Given the description of an element on the screen output the (x, y) to click on. 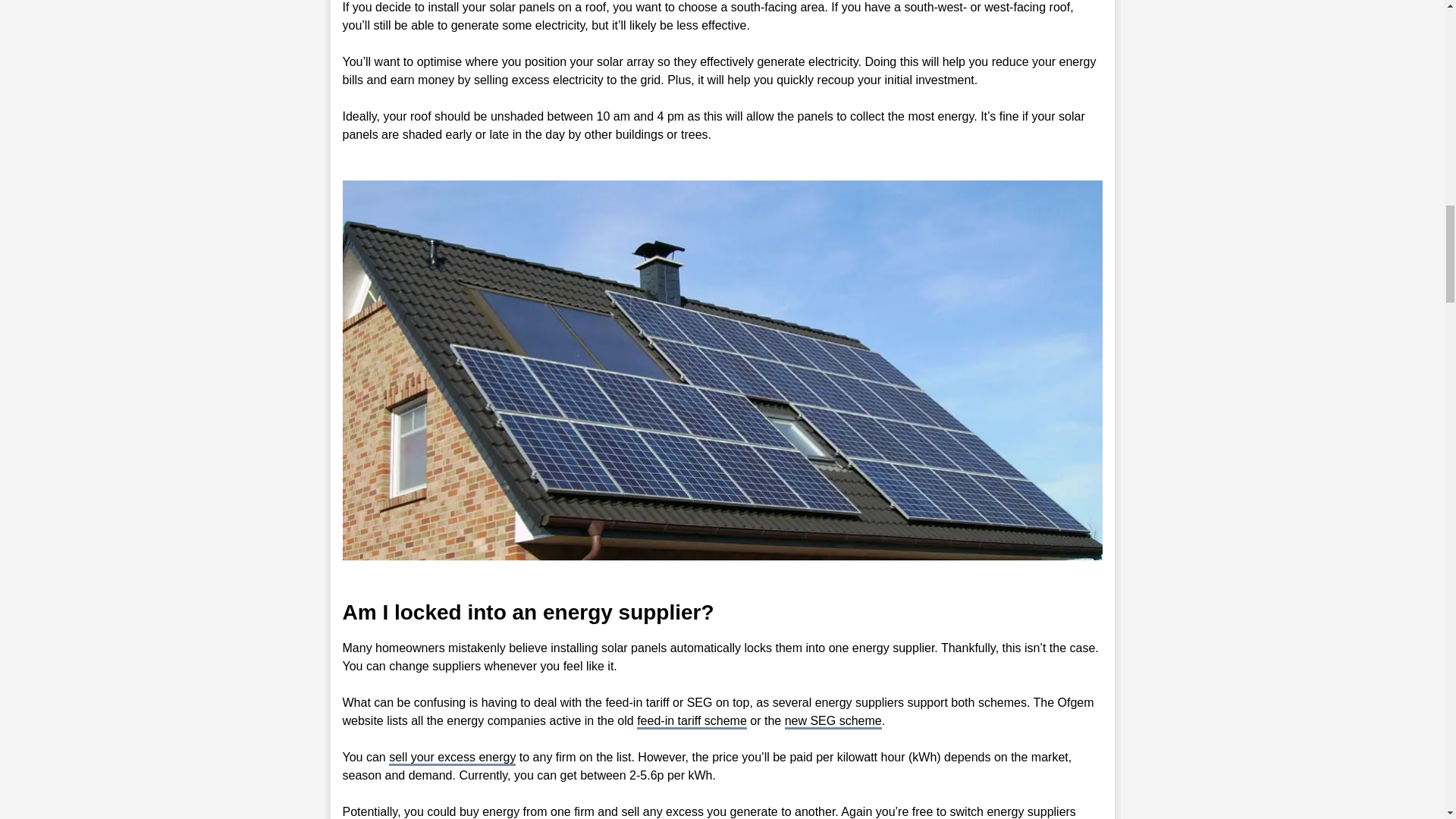
feed-in tariff scheme (691, 721)
sell your excess energy (451, 758)
new SEG scheme (833, 721)
